Given the description of an element on the screen output the (x, y) to click on. 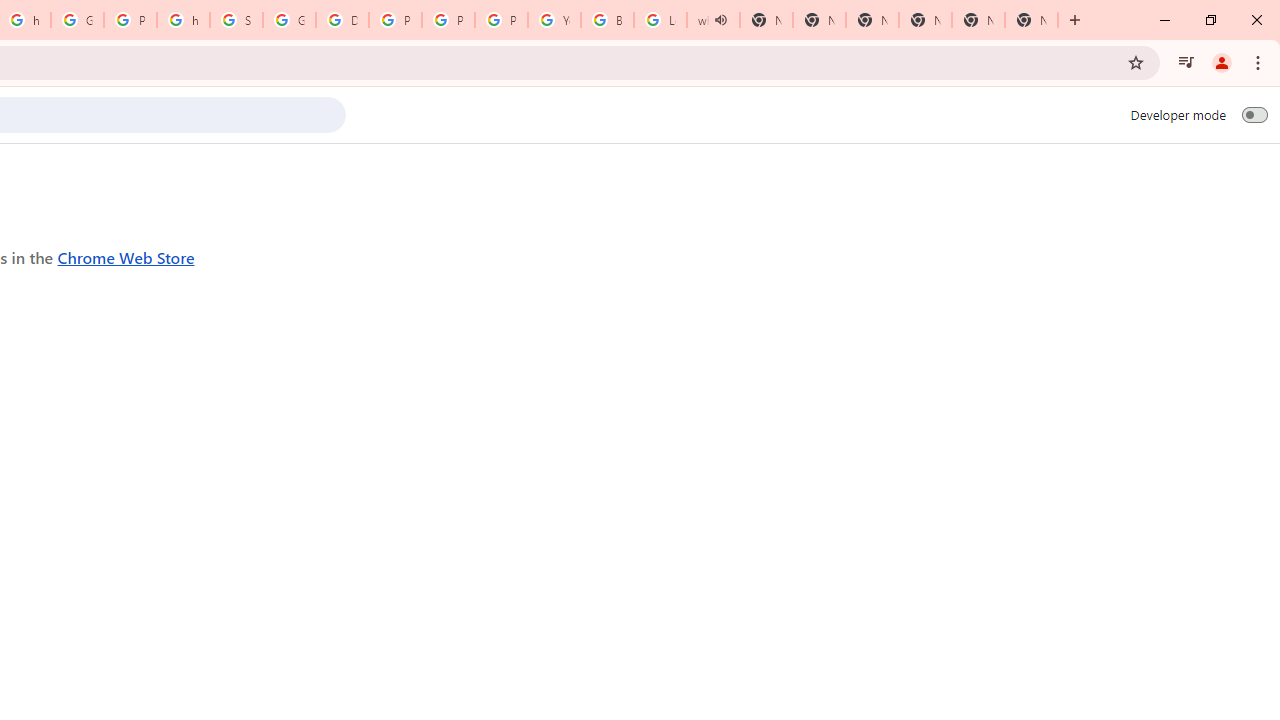
Developer mode (1254, 114)
New Tab (1031, 20)
Privacy Help Center - Policies Help (395, 20)
